Given the description of an element on the screen output the (x, y) to click on. 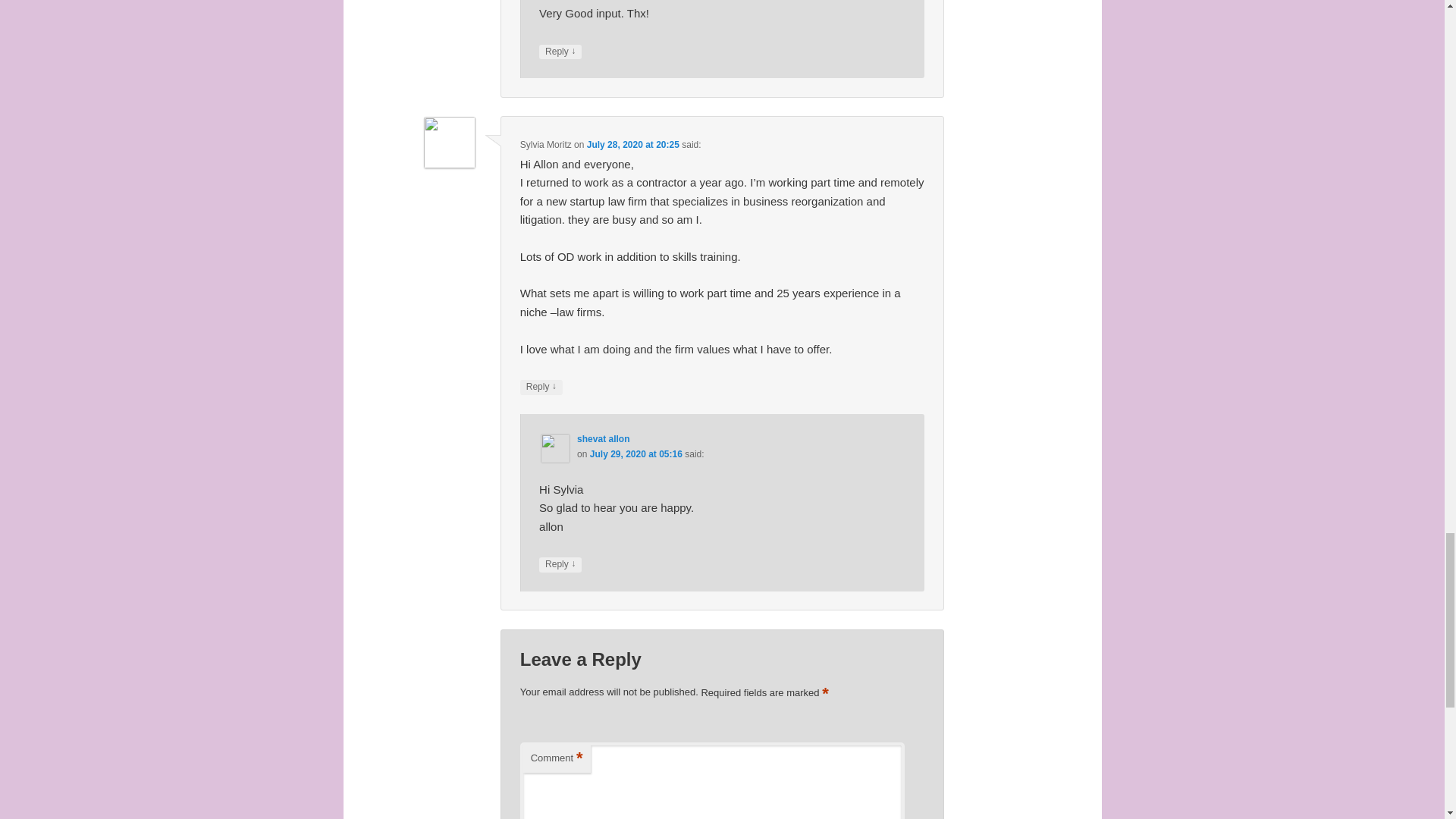
shevat allon (602, 439)
July 28, 2020 at 20:25 (632, 144)
July 29, 2020 at 05:16 (635, 453)
